Given the description of an element on the screen output the (x, y) to click on. 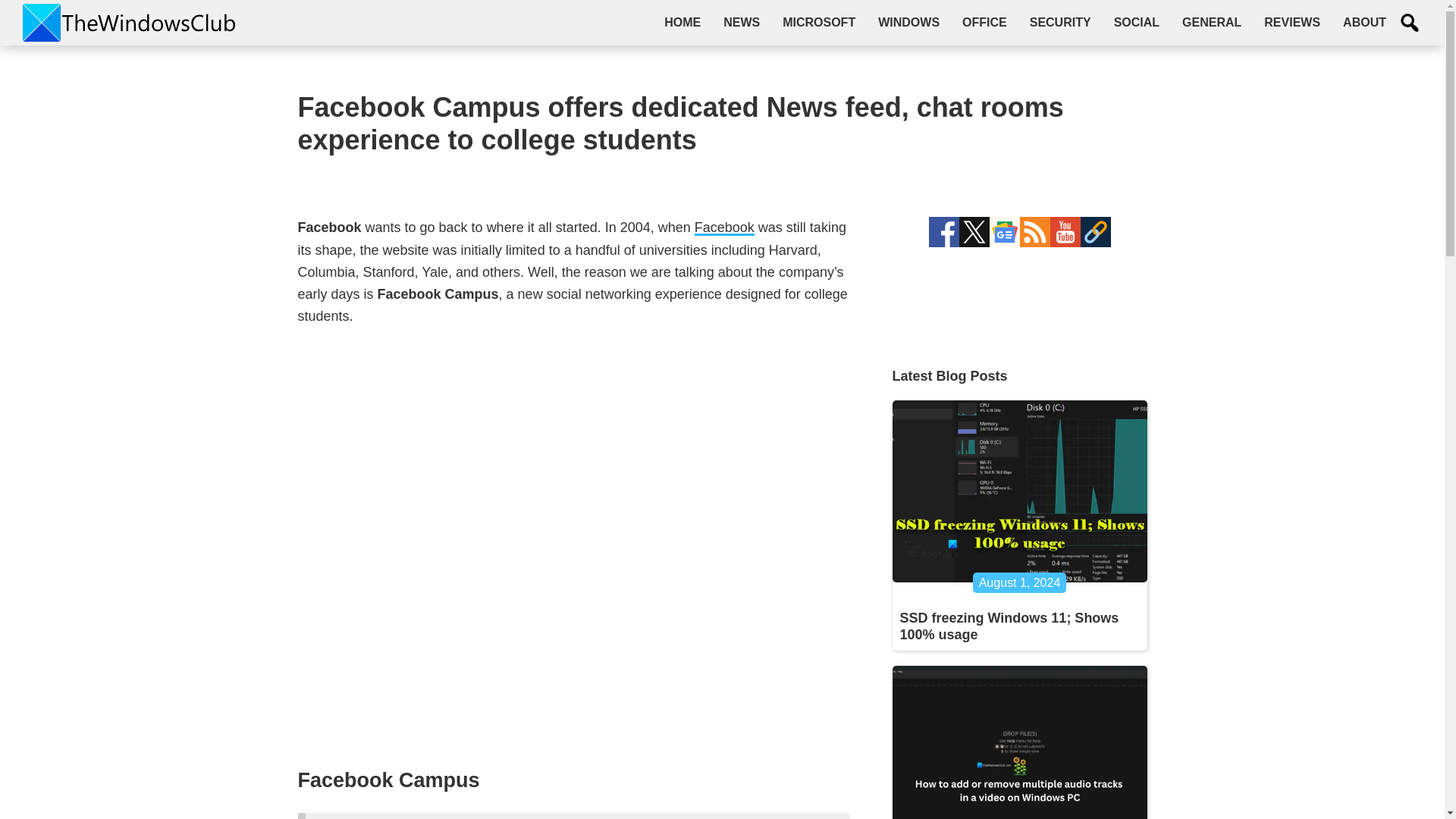
NEWS (741, 22)
OFFICE (983, 22)
REVIEWS (1292, 22)
SECURITY (1059, 22)
Facebook (724, 227)
HOME (681, 22)
GENERAL (1211, 22)
Show Search (1409, 22)
WINDOWS (908, 22)
MICROSOFT (818, 22)
ABOUT (1364, 22)
SOCIAL (1136, 22)
